Given the description of an element on the screen output the (x, y) to click on. 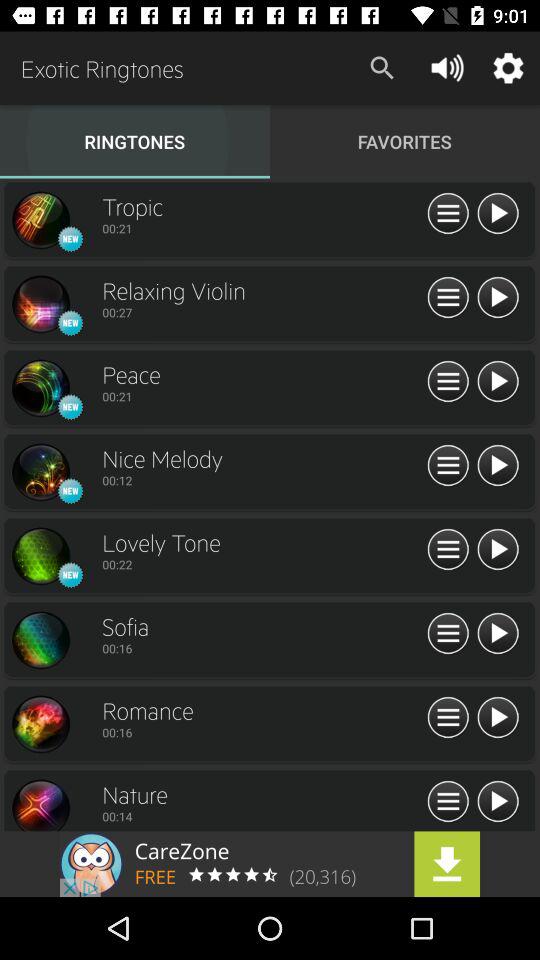
go to song details (447, 381)
